Given the description of an element on the screen output the (x, y) to click on. 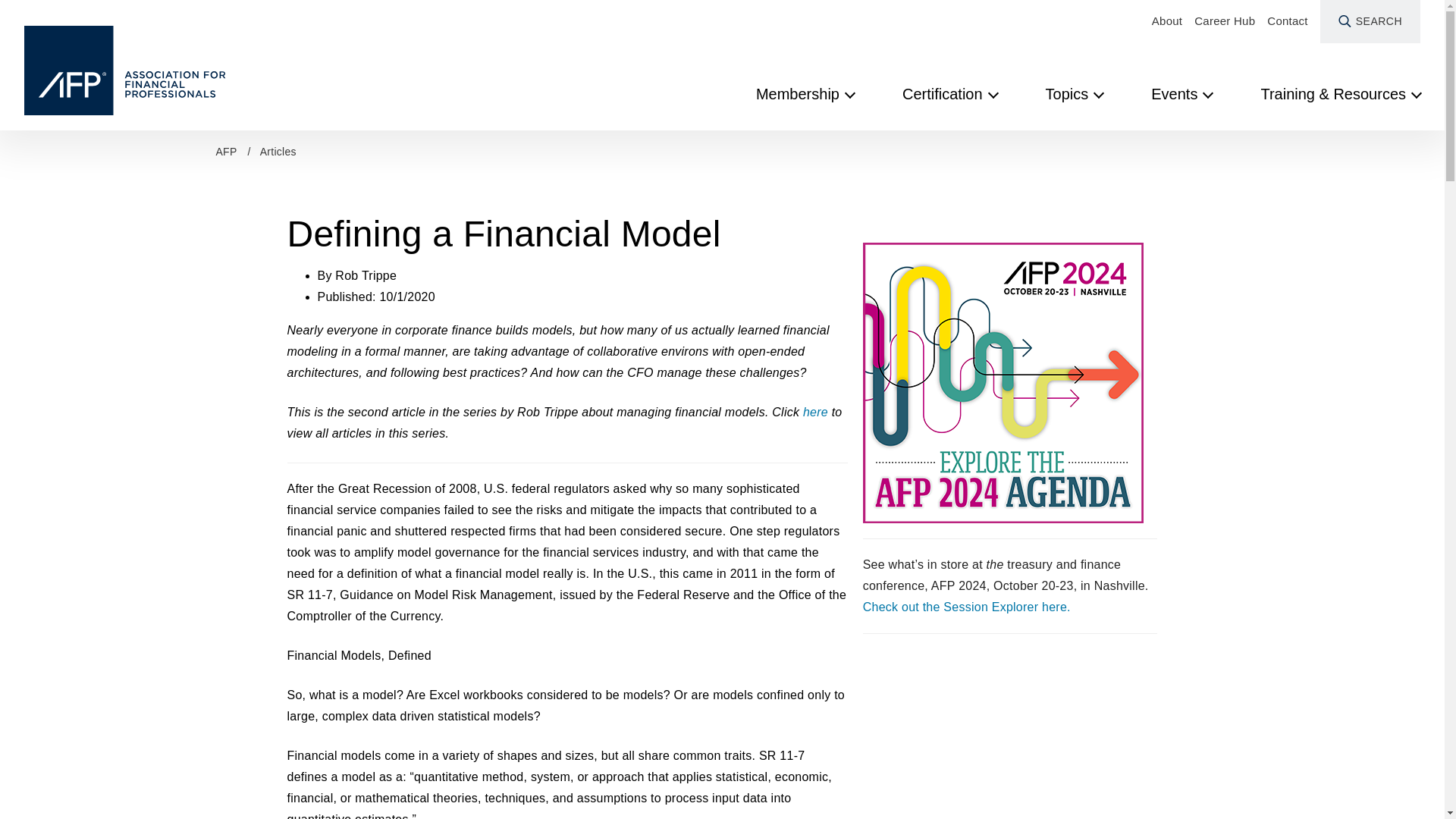
About (1166, 21)
Contact (1286, 21)
SEARCH (1370, 21)
AFP Logo SVG (125, 69)
Certification (949, 93)
Membership (804, 93)
Career Hub (1224, 21)
